Given the description of an element on the screen output the (x, y) to click on. 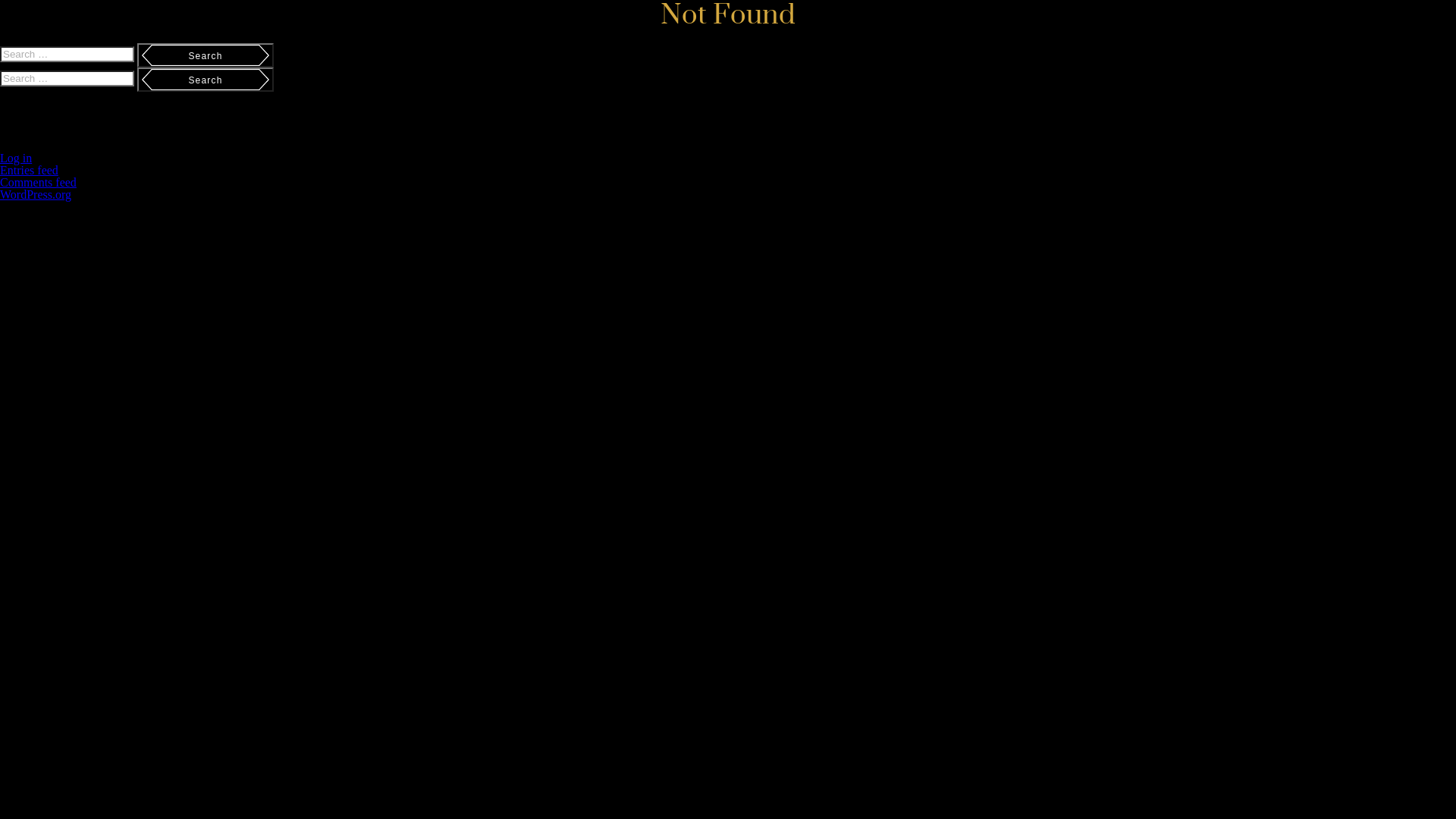
Search Element type: text (205, 55)
WordPress.org Element type: text (35, 194)
Log in Element type: text (15, 157)
Entries feed Element type: text (29, 169)
Search Element type: text (205, 79)
Comments feed Element type: text (38, 181)
